Given the description of an element on the screen output the (x, y) to click on. 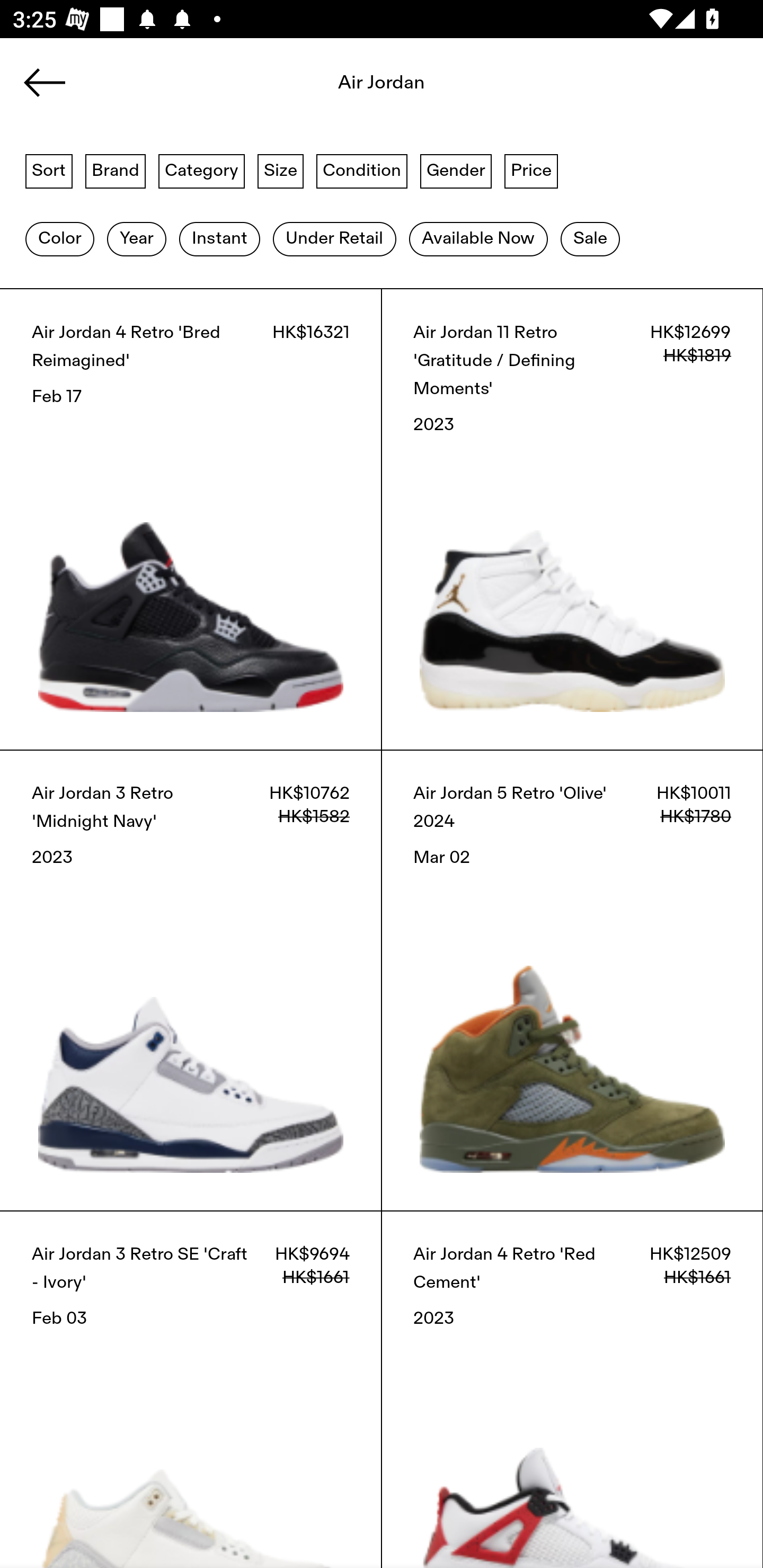
Search (381, 88)
Sort (48, 170)
Brand (115, 170)
Category (201, 170)
Size (280, 170)
Condition (361, 170)
Gender (455, 170)
Price (530, 170)
Color (59, 239)
Year (136, 239)
Instant (219, 239)
Under Retail (334, 239)
Available Now (477, 239)
Sale (589, 239)
